Given the description of an element on the screen output the (x, y) to click on. 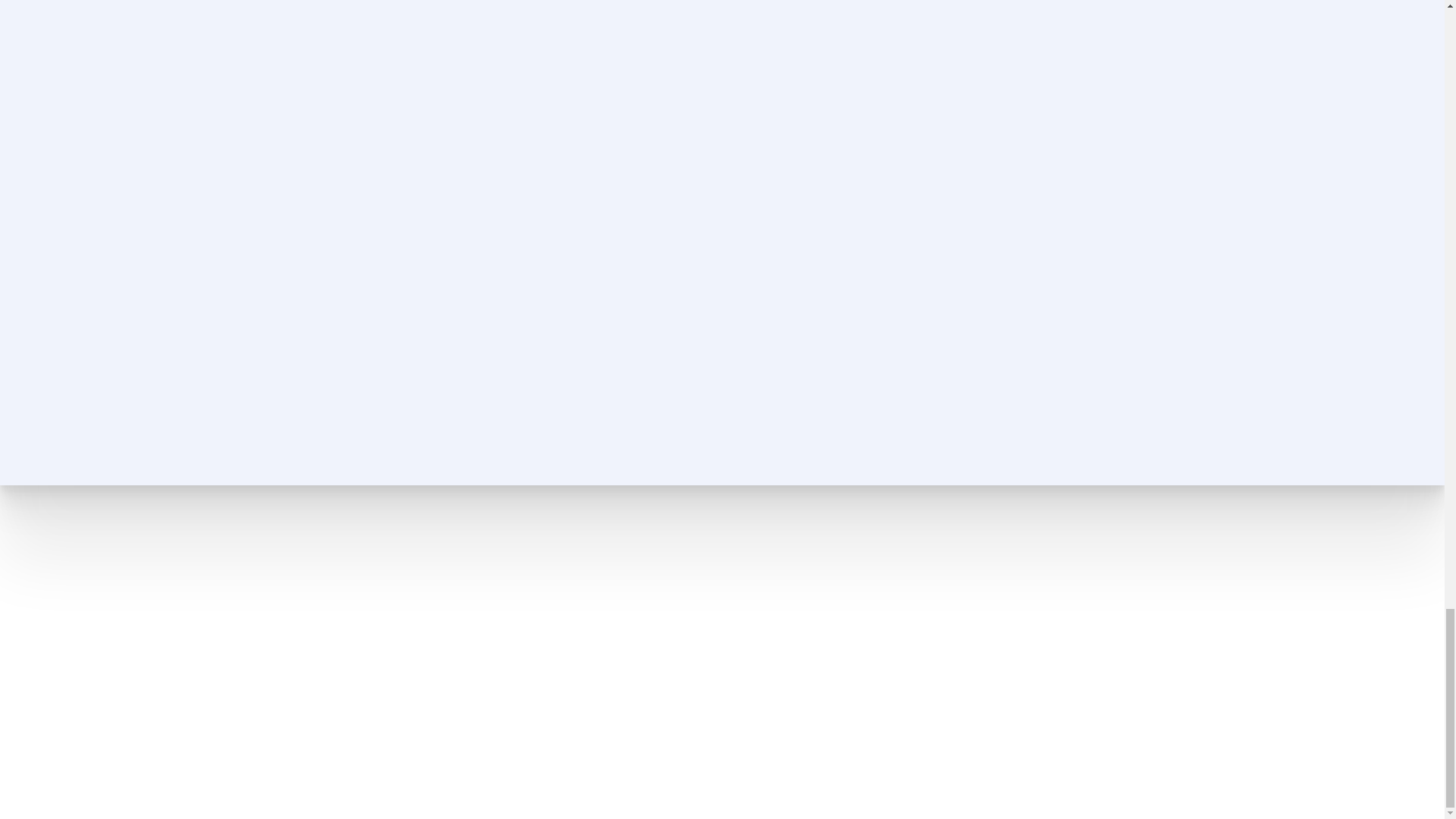
Submit Form (1006, 372)
